Given the description of an element on the screen output the (x, y) to click on. 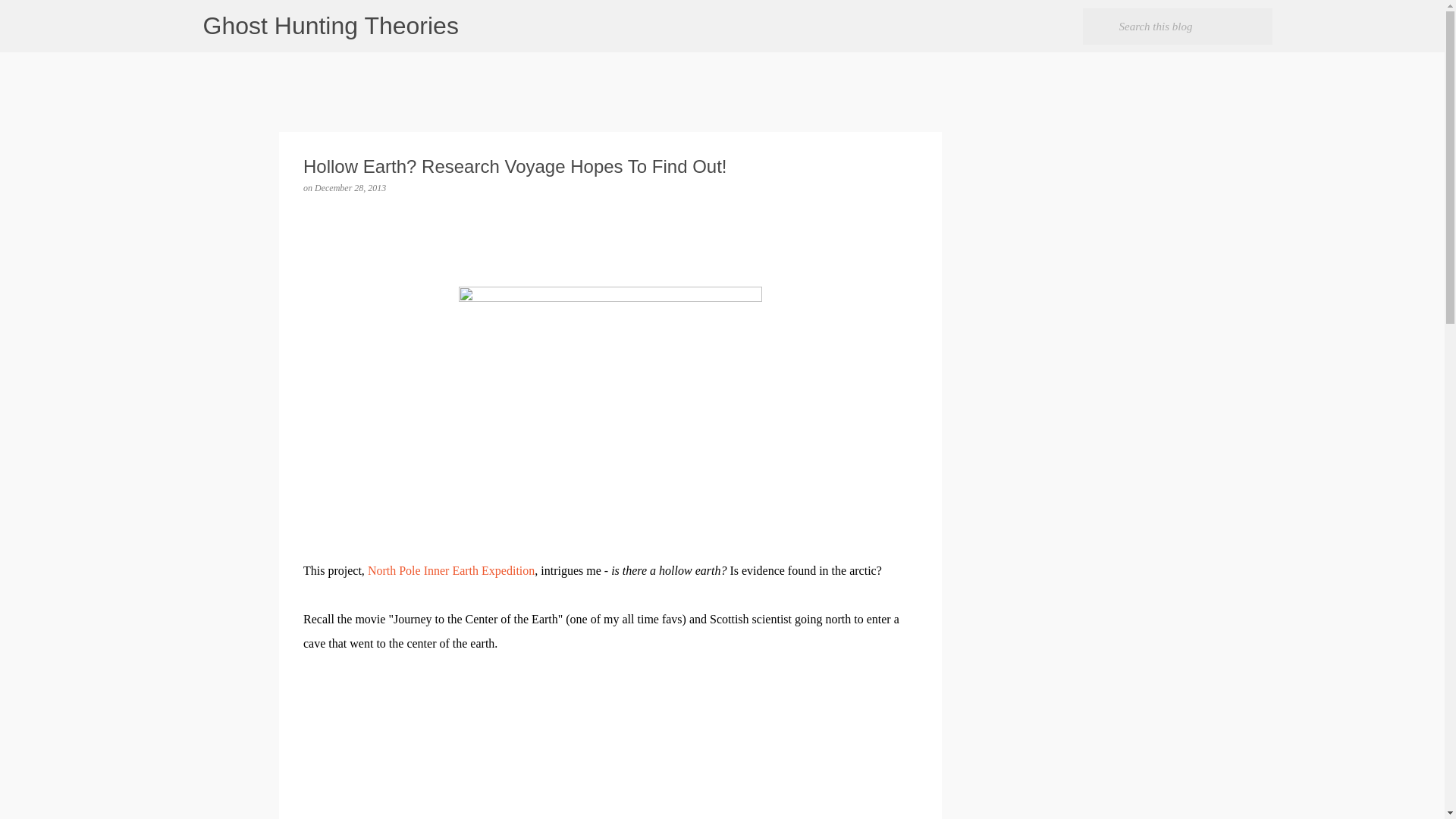
December 28, 2013 (349, 187)
permanent link (349, 187)
North Pole Inner Earth Expedition (451, 570)
Ghost Hunting Theories (330, 25)
